Given the description of an element on the screen output the (x, y) to click on. 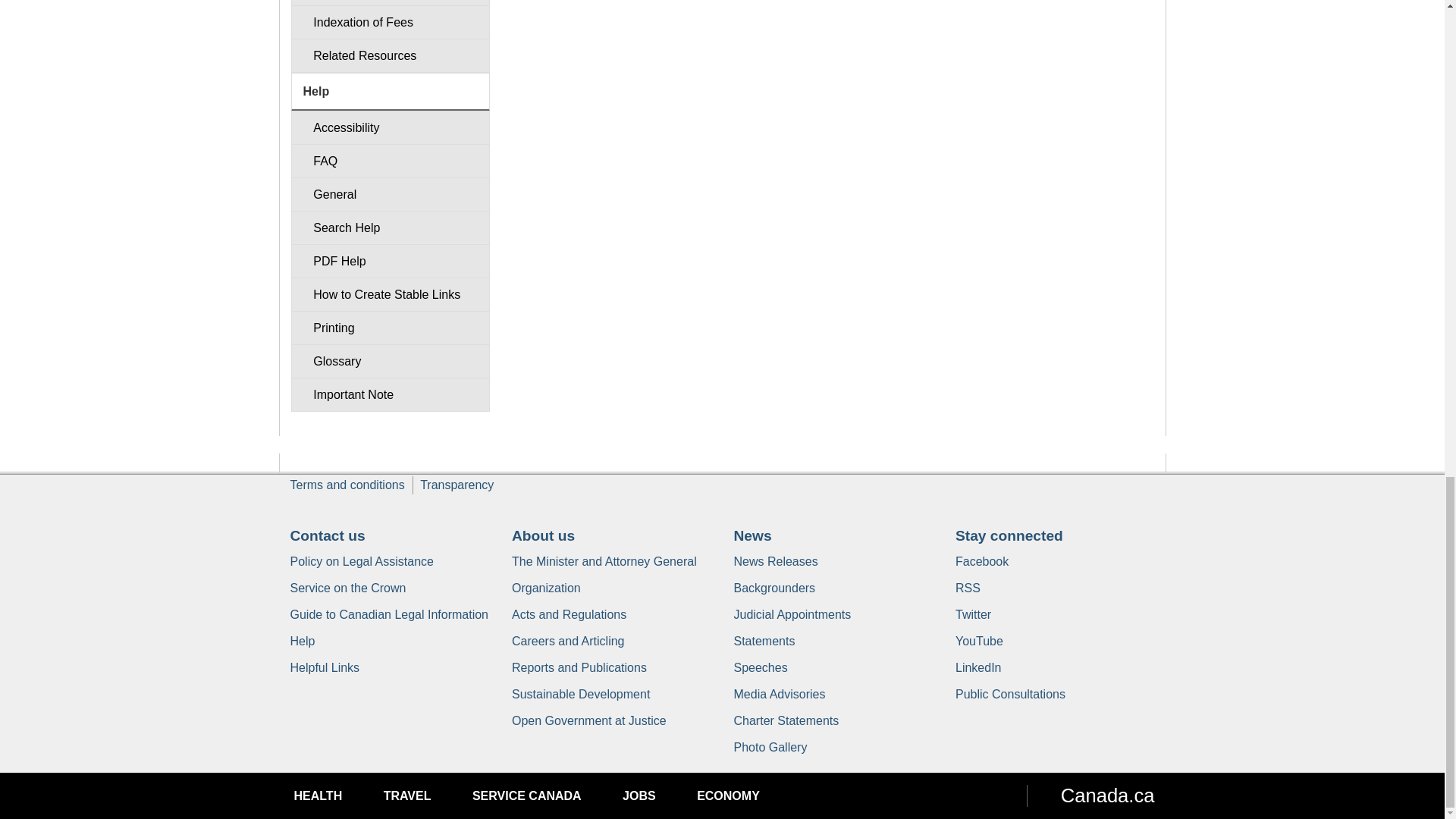
Printing Help (390, 327)
General Help (390, 194)
Accessibility Help (390, 127)
Frequently Asked Questions (390, 161)
Related Resources (390, 55)
